Given the description of an element on the screen output the (x, y) to click on. 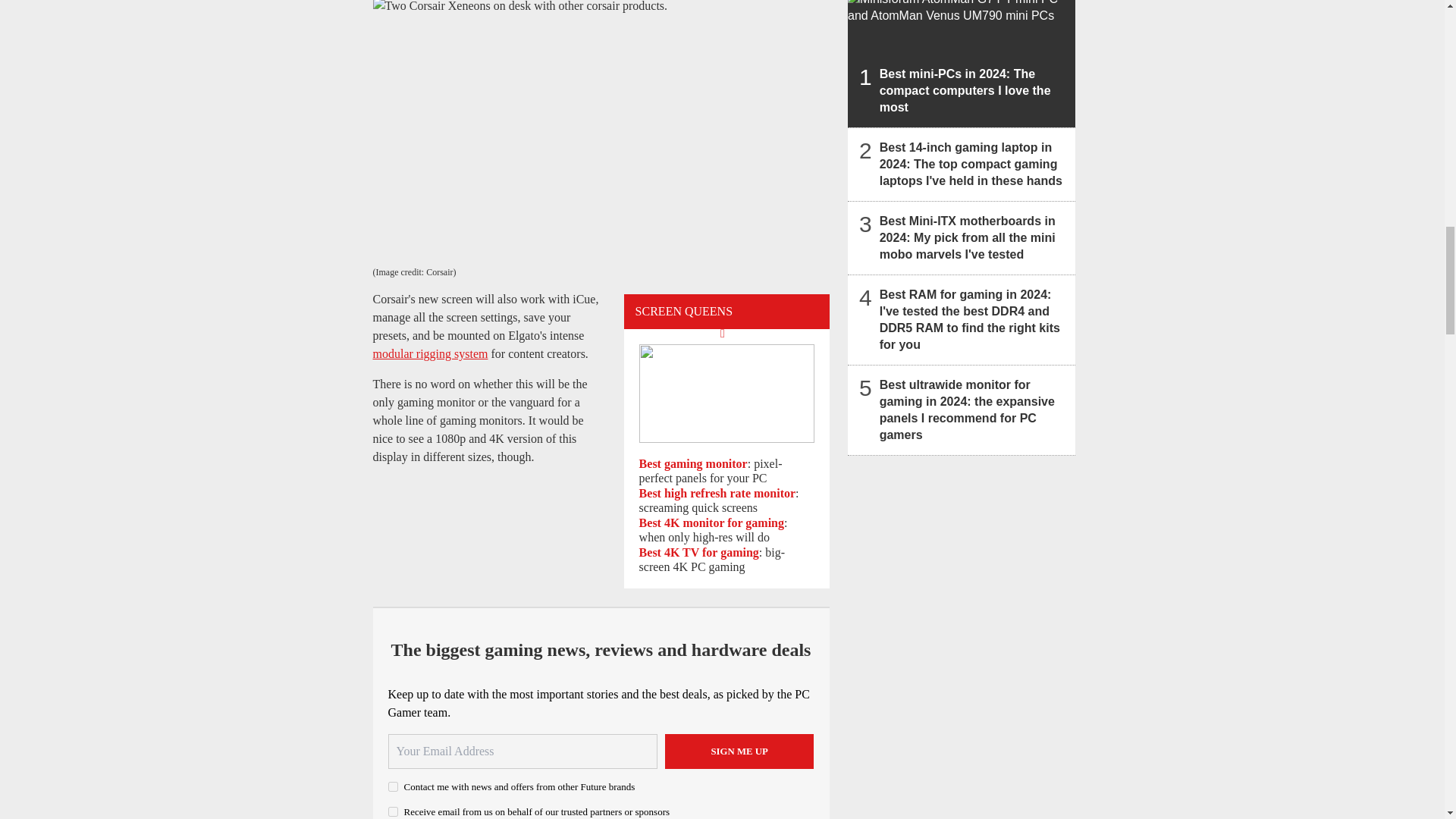
on (392, 786)
Sign me up (739, 751)
on (392, 811)
